Given the description of an element on the screen output the (x, y) to click on. 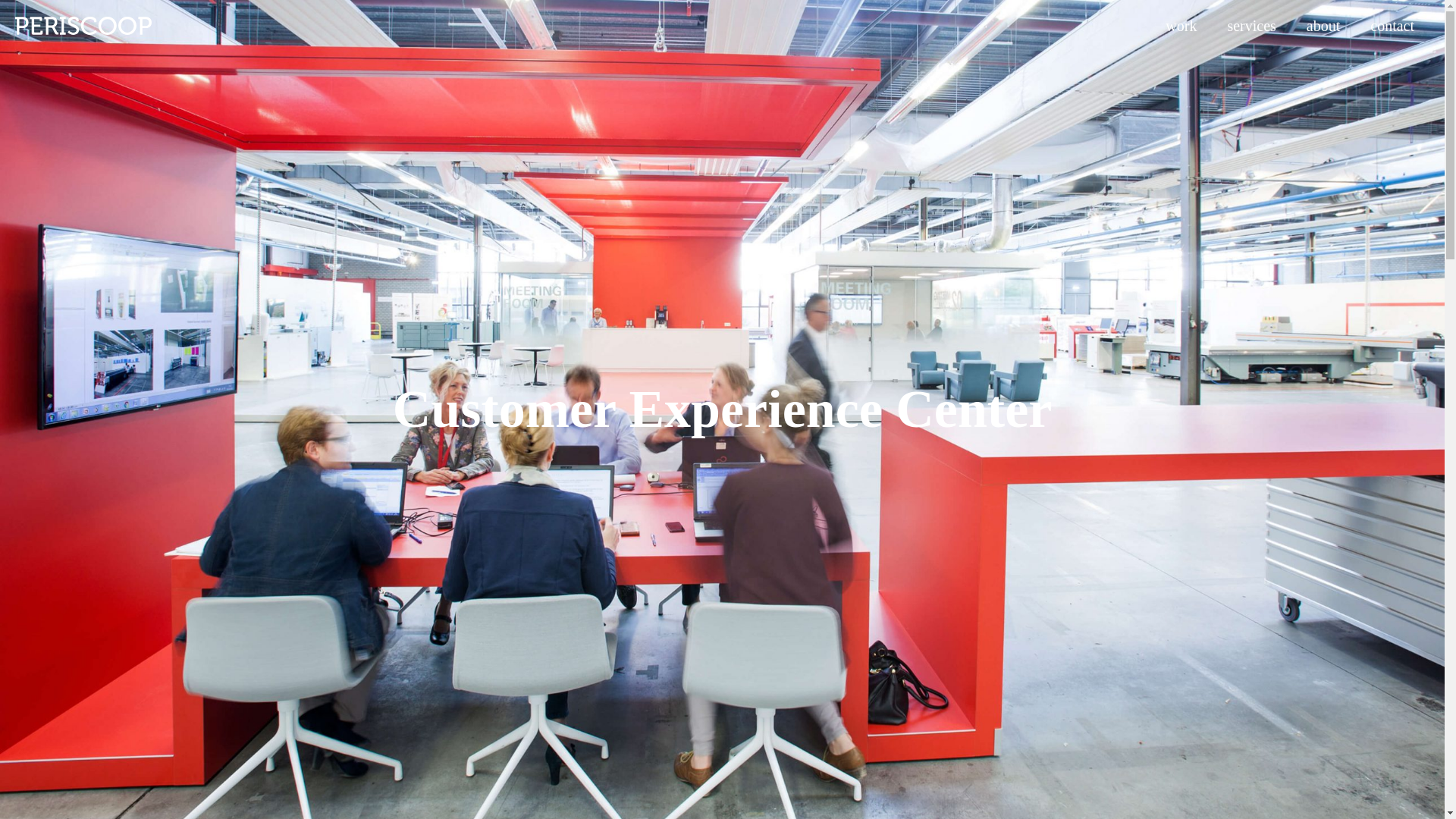
services (1250, 25)
about (1323, 25)
work (1180, 25)
contact (1392, 25)
